Given the description of an element on the screen output the (x, y) to click on. 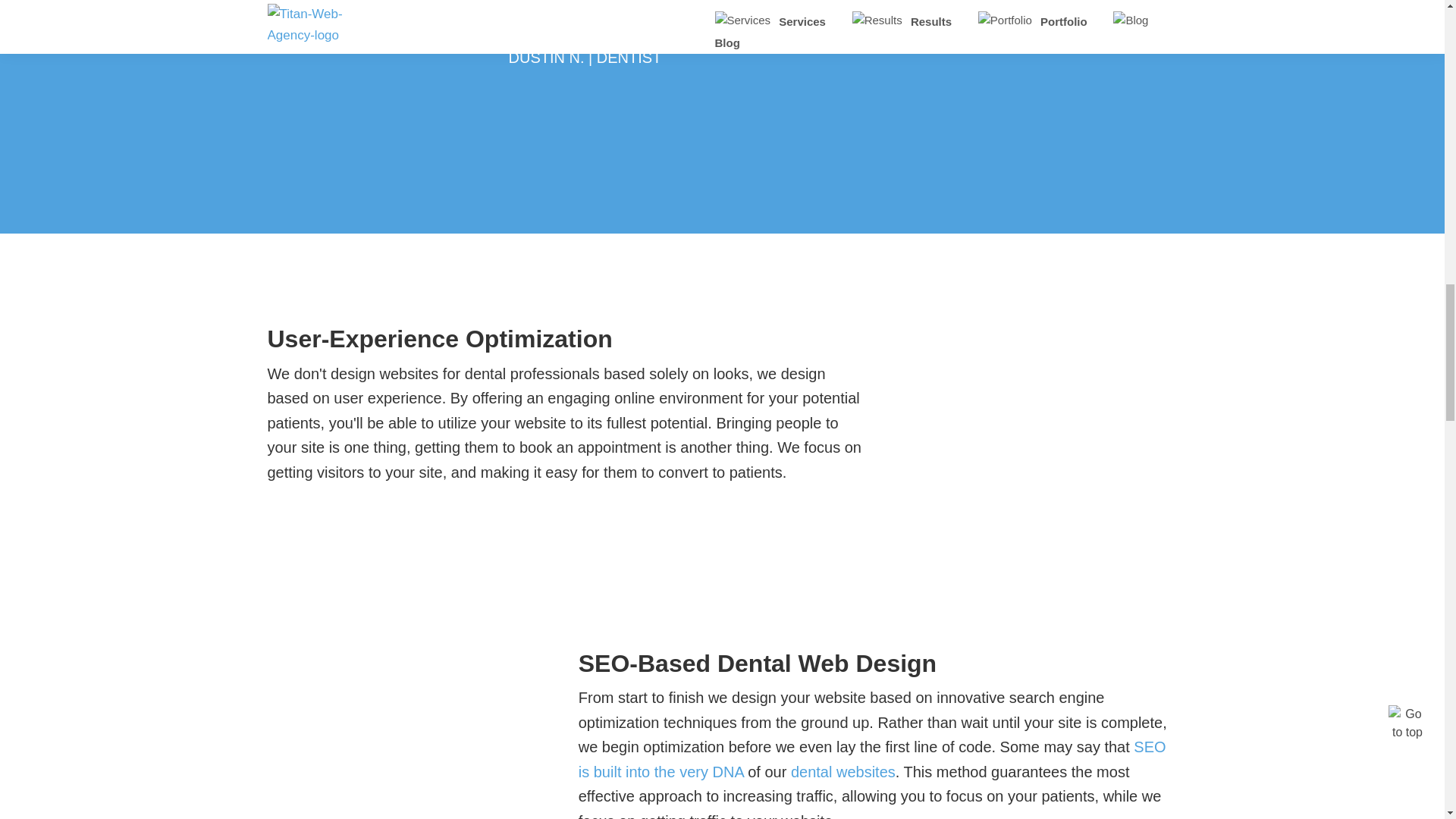
SEO is built into the very DNA (872, 759)
dental websites (842, 771)
